Given the description of an element on the screen output the (x, y) to click on. 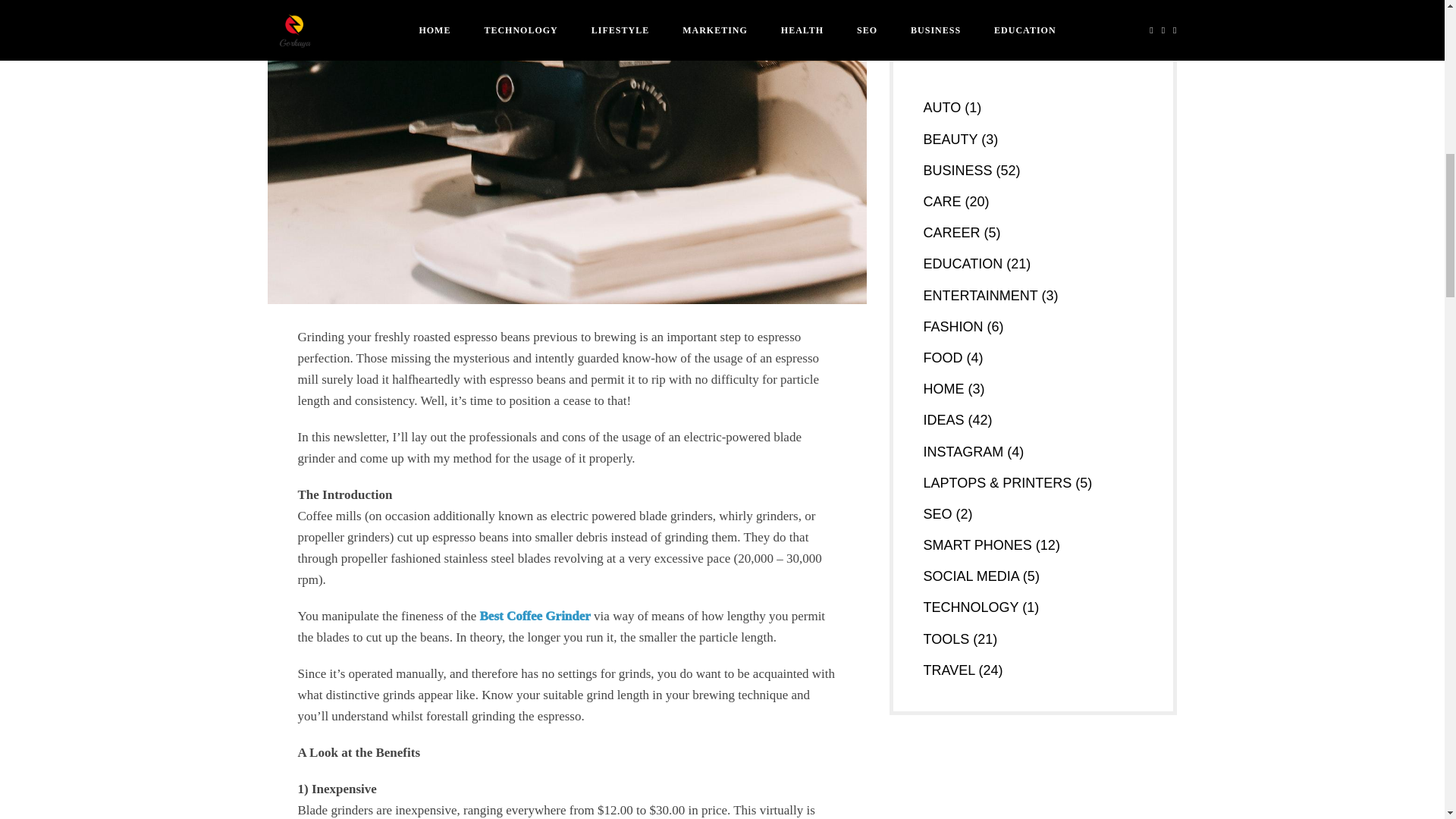
Best Coffee Grinder (535, 616)
